Given the description of an element on the screen output the (x, y) to click on. 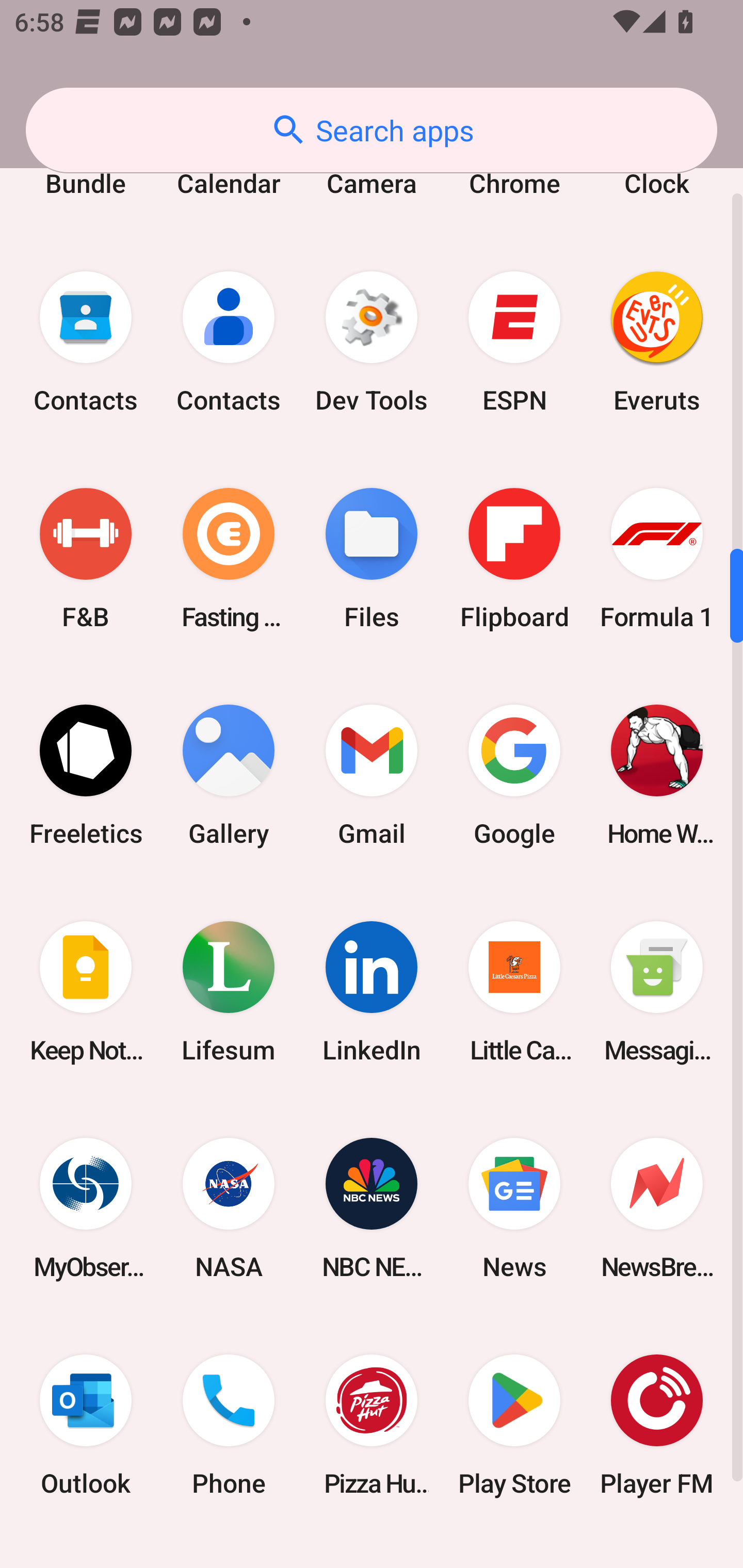
  Search apps (371, 130)
Contacts (85, 341)
Contacts (228, 341)
Dev Tools (371, 341)
ESPN (514, 341)
Everuts (656, 341)
F&B (85, 558)
Fasting Coach (228, 558)
Files (371, 558)
Flipboard (514, 558)
Formula 1 (656, 558)
Freeletics (85, 774)
Gallery (228, 774)
Gmail (371, 774)
Google (514, 774)
Home Workout (656, 774)
Keep Notes (85, 991)
Lifesum (228, 991)
LinkedIn (371, 991)
Little Caesars Pizza (514, 991)
Messaging (656, 991)
MyObservatory (85, 1208)
NASA (228, 1208)
NBC NEWS (371, 1208)
News (514, 1208)
NewsBreak (656, 1208)
Outlook (85, 1425)
Phone (228, 1425)
Pizza Hut HK & Macau (371, 1425)
Play Store (514, 1425)
Player FM (656, 1425)
